Given the description of an element on the screen output the (x, y) to click on. 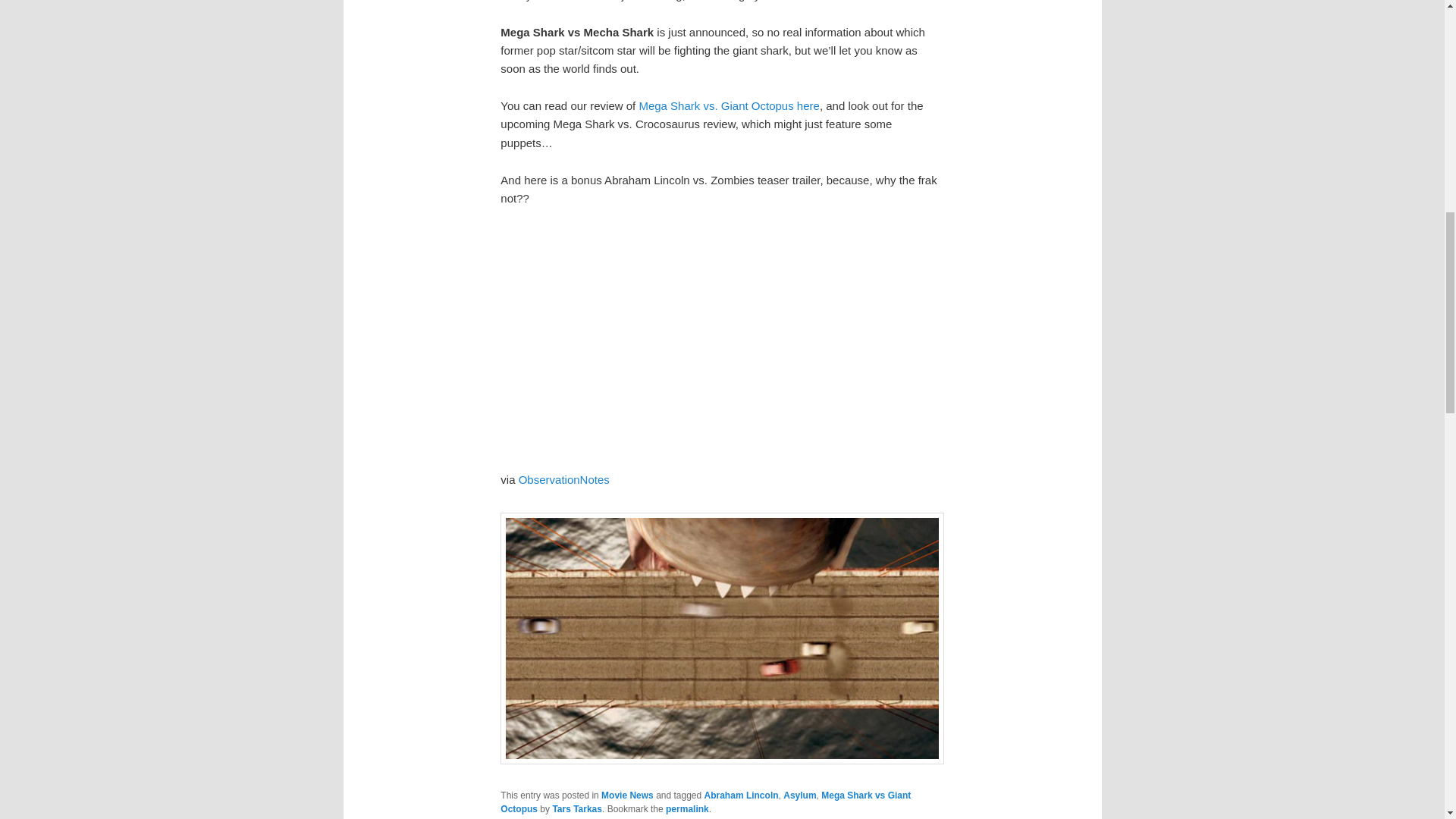
Abraham Lincoln (741, 795)
Movie News (627, 795)
ObservationNotes (564, 479)
megasharkvsgiantoctopus13 (721, 638)
Mega Shark vs. Giant Octopus here (728, 105)
Tars Tarkas (576, 808)
Mega Shark vs Giant Octopus (705, 802)
Permalink to Mega Shark vs Mecha Shark is coming! (687, 808)
Asylum (799, 795)
permalink (687, 808)
